Given the description of an element on the screen output the (x, y) to click on. 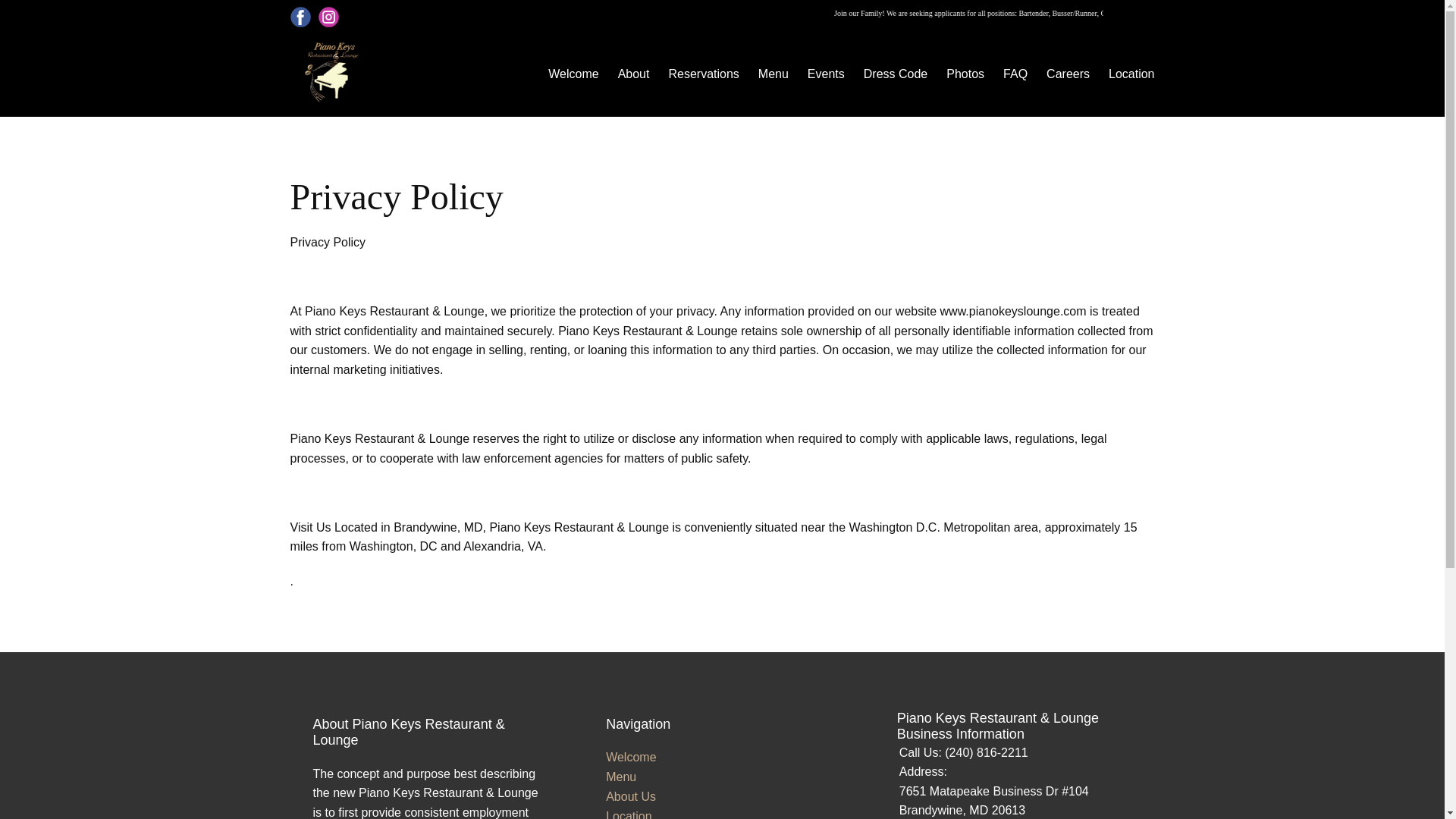
Reservations (773, 74)
Home (330, 74)
About (633, 74)
Photos (965, 74)
Welcome (573, 74)
Dress Code (895, 74)
About Us (630, 796)
Menu (773, 74)
Reservations (703, 74)
Careers (1067, 74)
Menu (620, 776)
Location (1131, 74)
FAQ (1015, 74)
facebook (299, 16)
Location (628, 814)
